Given the description of an element on the screen output the (x, y) to click on. 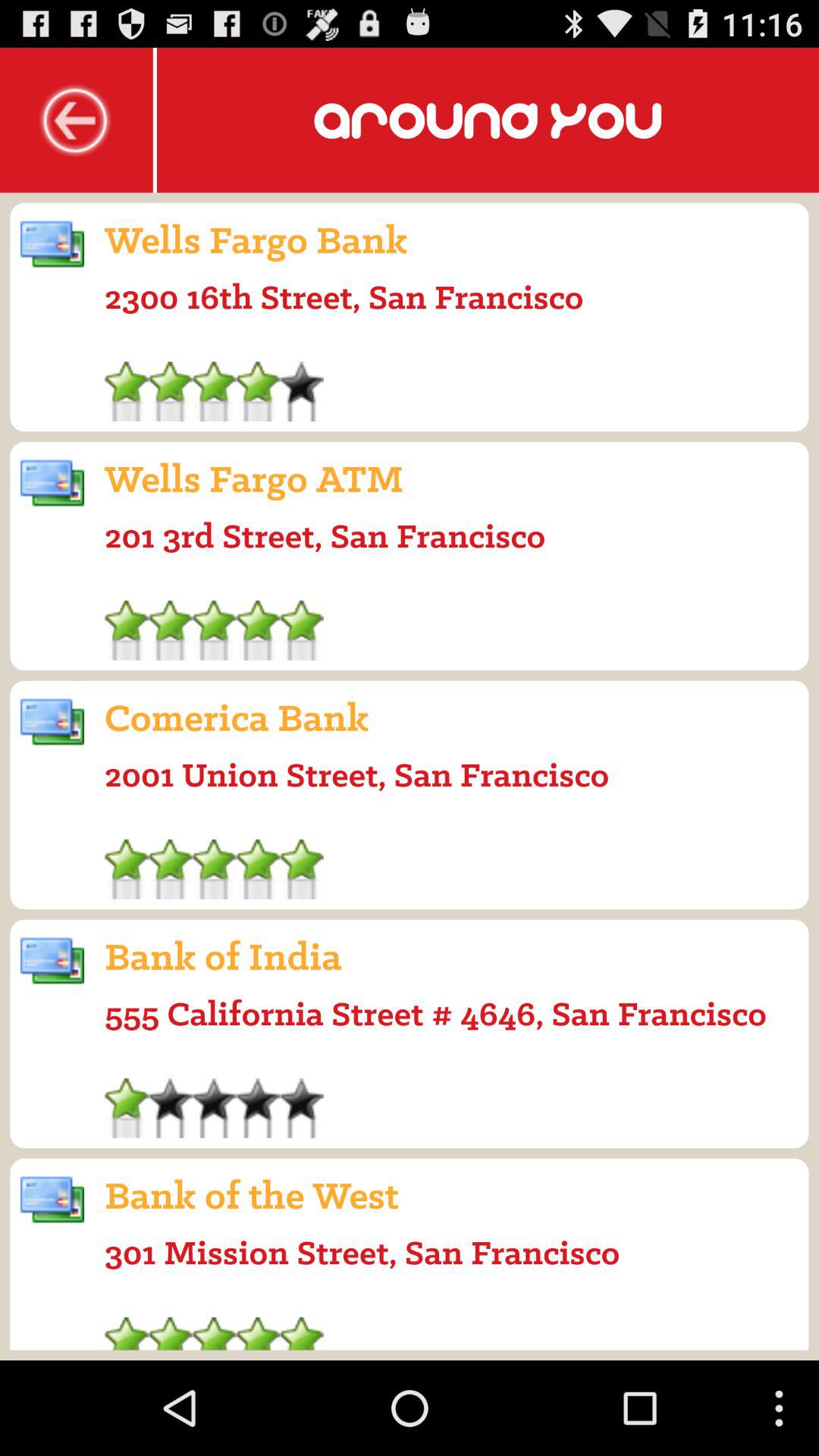
press 555 california street (435, 1013)
